Given the description of an element on the screen output the (x, y) to click on. 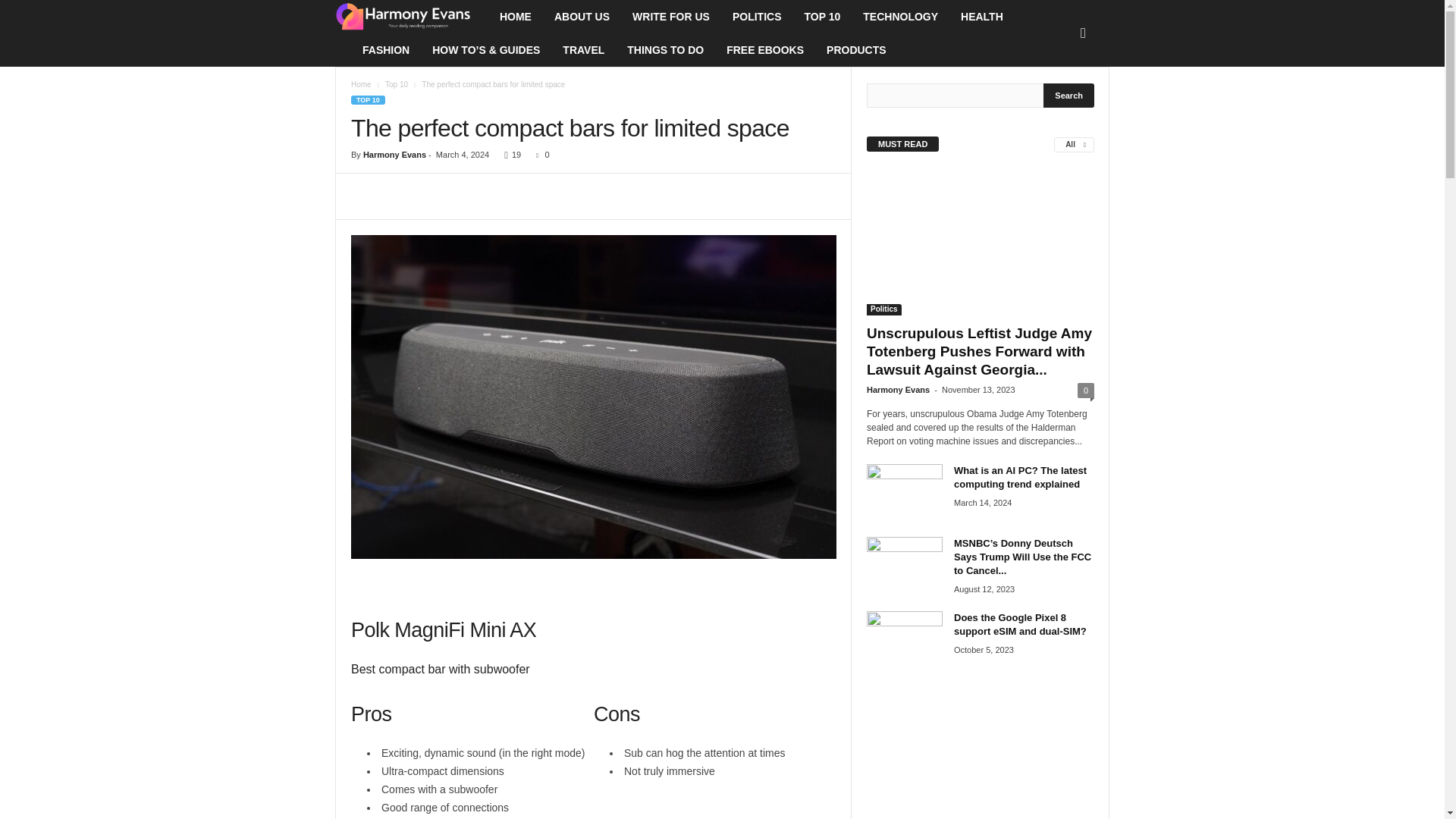
Harmony Evans (410, 16)
TECHNOLOGY (900, 16)
TRAVEL (583, 49)
ABOUT US (582, 16)
HOME (515, 16)
TOP 10 (822, 16)
FASHION (385, 49)
POLITICS (756, 16)
Search (1068, 95)
THINGS TO DO (664, 49)
View all posts in Top 10 (396, 84)
WRITE FOR US (670, 16)
HEALTH (981, 16)
FREE EBOOKS (764, 49)
